Given the description of an element on the screen output the (x, y) to click on. 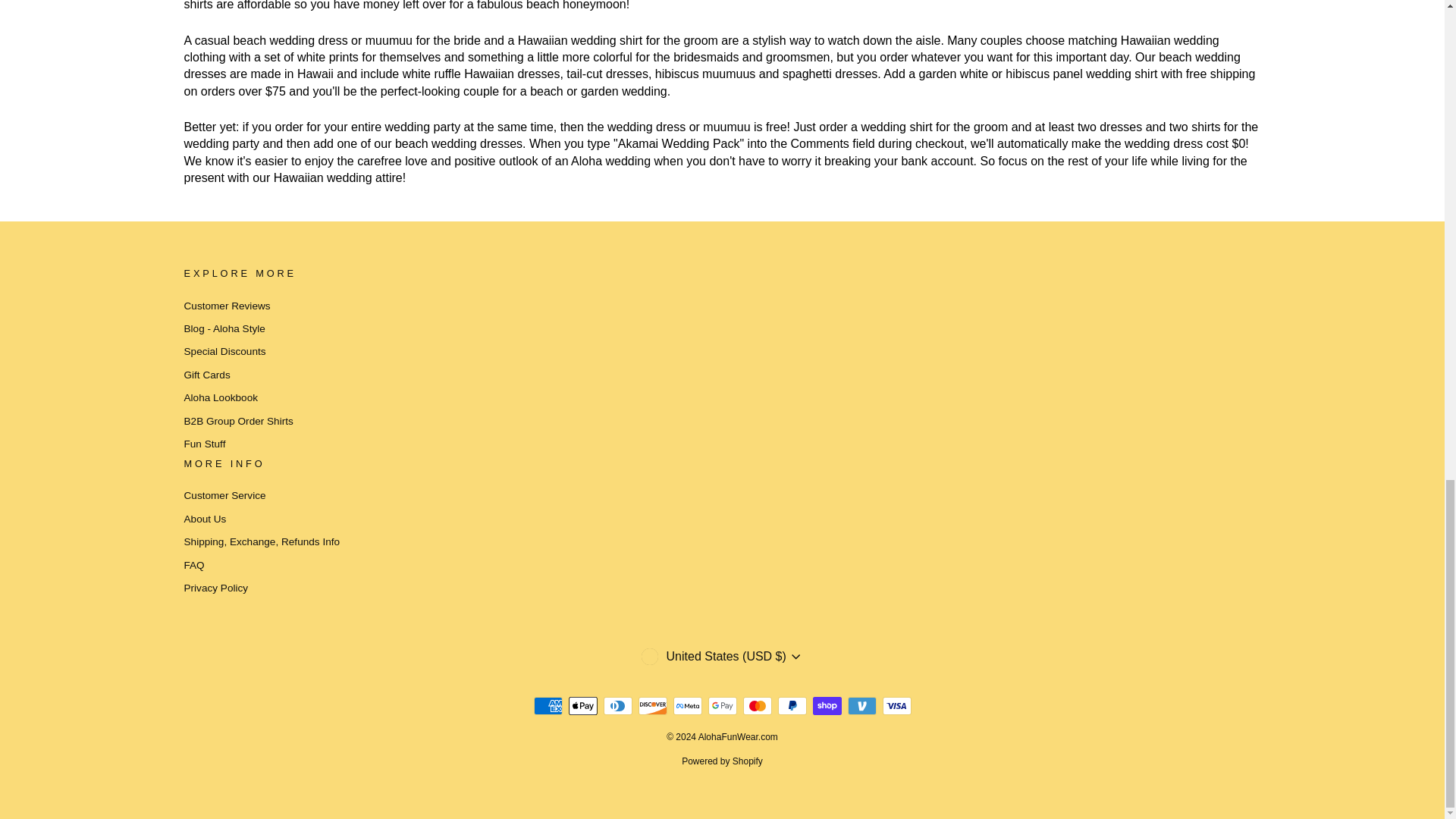
Meta Pay (686, 705)
Google Pay (721, 705)
Venmo (861, 705)
American Express (548, 705)
PayPal (791, 705)
Visa (896, 705)
Mastercard (756, 705)
Discover (652, 705)
Shop Pay (826, 705)
Diners Club (617, 705)
Apple Pay (582, 705)
